Given the description of an element on the screen output the (x, y) to click on. 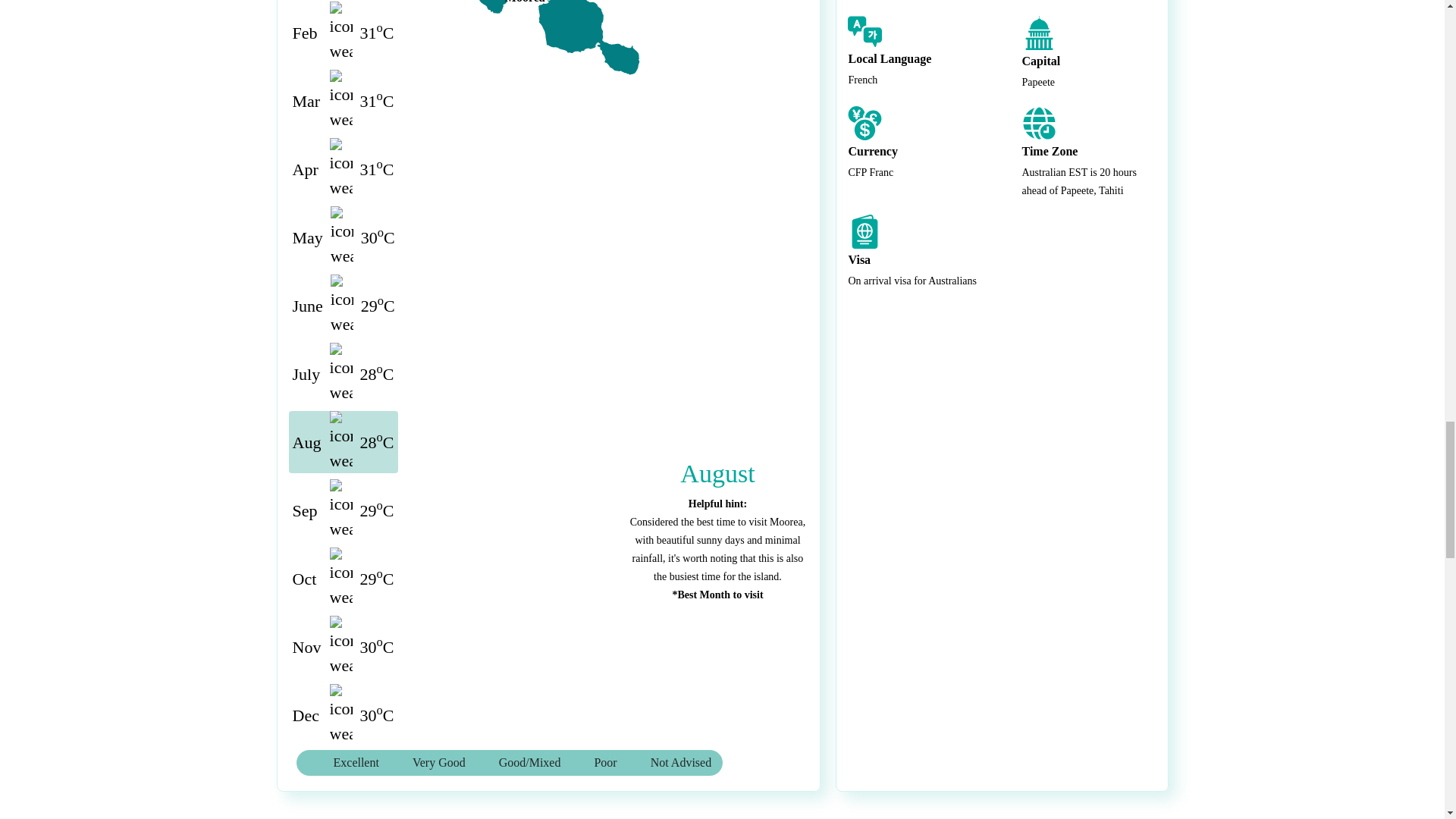
Moorea (602, 156)
